Given the description of an element on the screen output the (x, y) to click on. 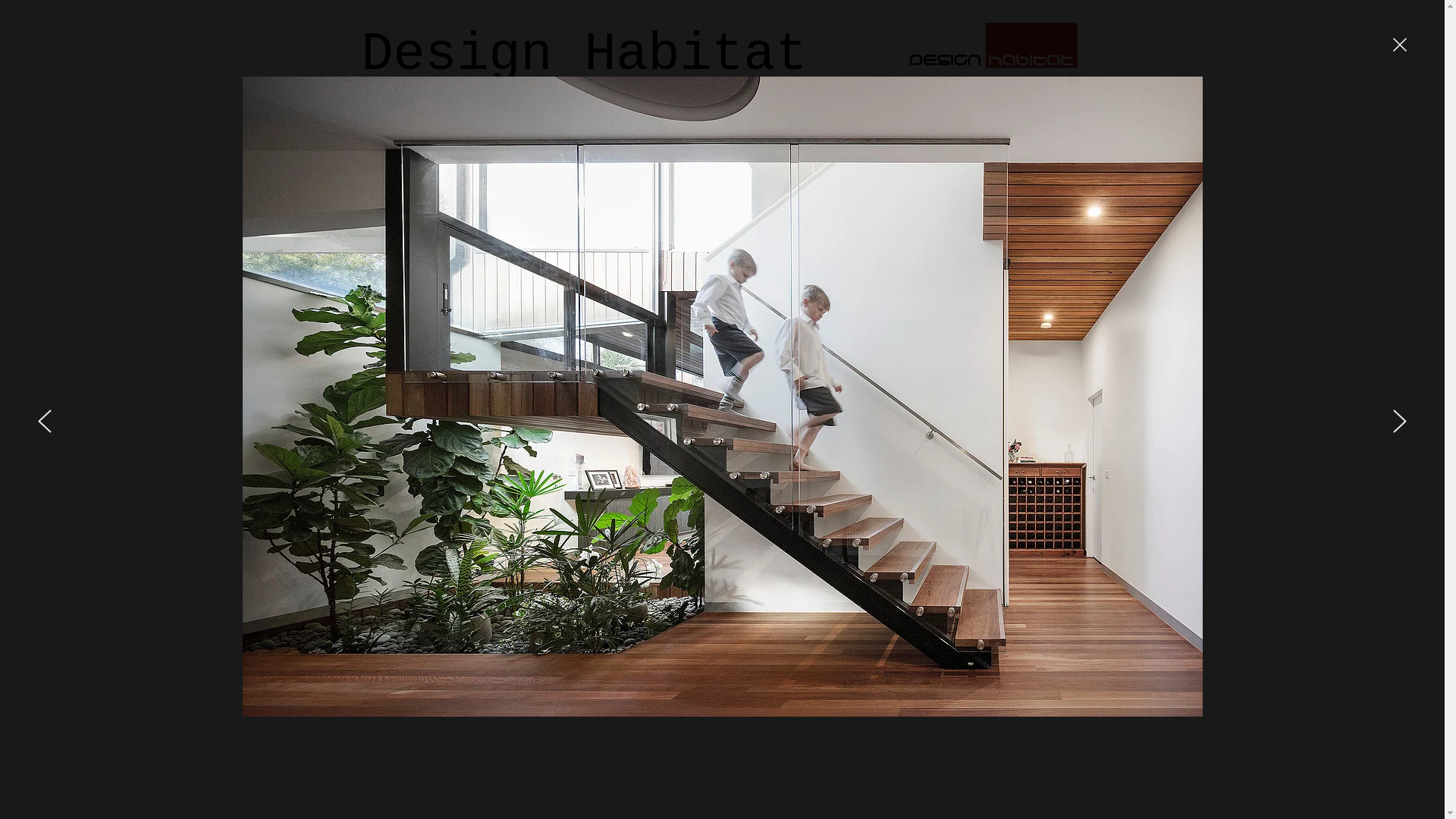
More Info Element type: text (662, 466)
Projects Element type: text (721, 97)
Services Element type: text (865, 97)
More Info (www link) Element type: text (917, 467)
About Element type: text (577, 97)
Contact Element type: text (1009, 97)
Home Element type: text (432, 97)
More Info Element type: text (403, 467)
